Given the description of an element on the screen output the (x, y) to click on. 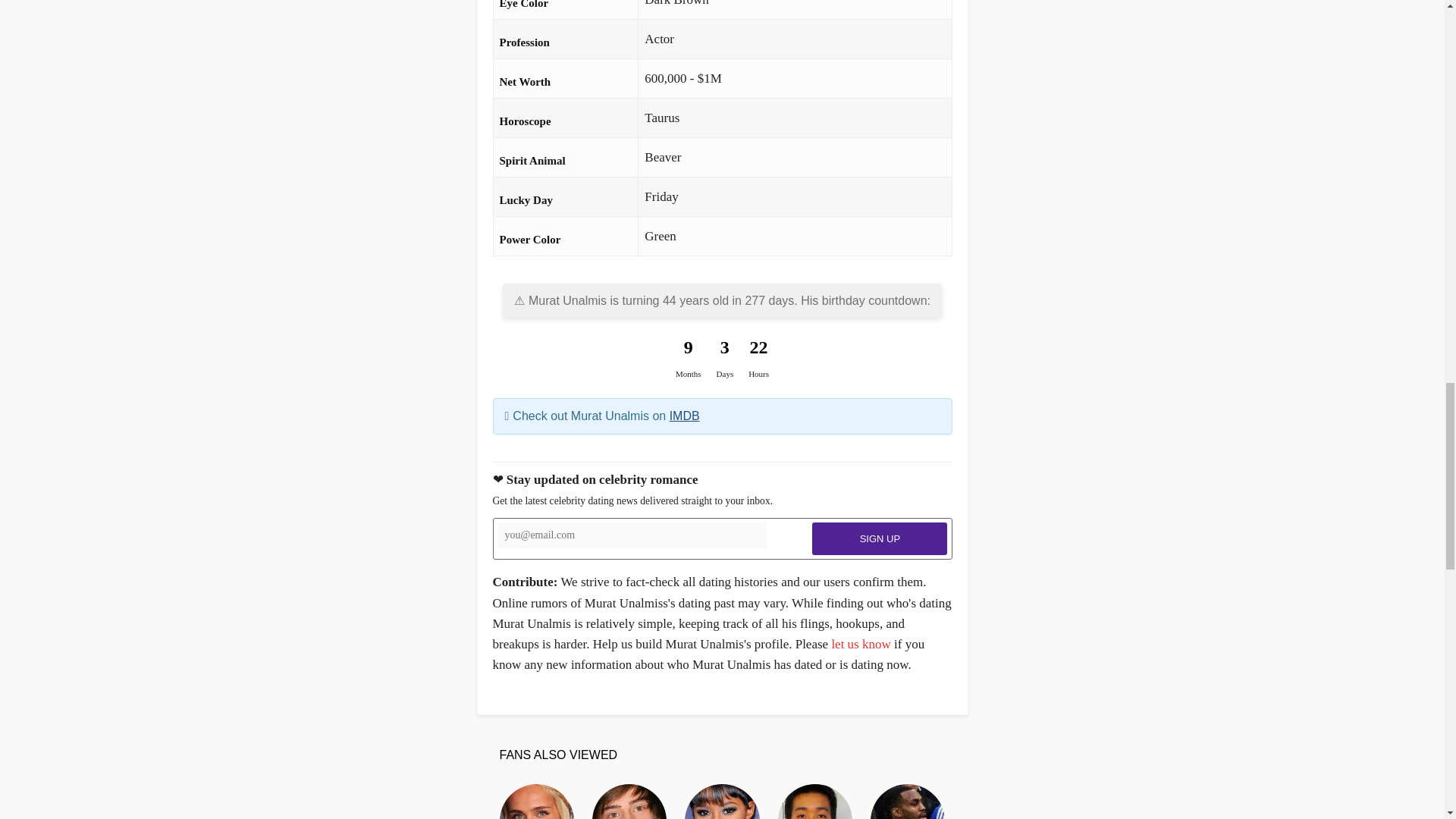
Evan Fong (814, 801)
Dej Loaf (721, 801)
SIGN UP (879, 538)
SIGN UP (879, 538)
Jimmy Bennett (629, 801)
IMDB (684, 415)
Isabel Lucas (536, 801)
let us know (860, 644)
